Given the description of an element on the screen output the (x, y) to click on. 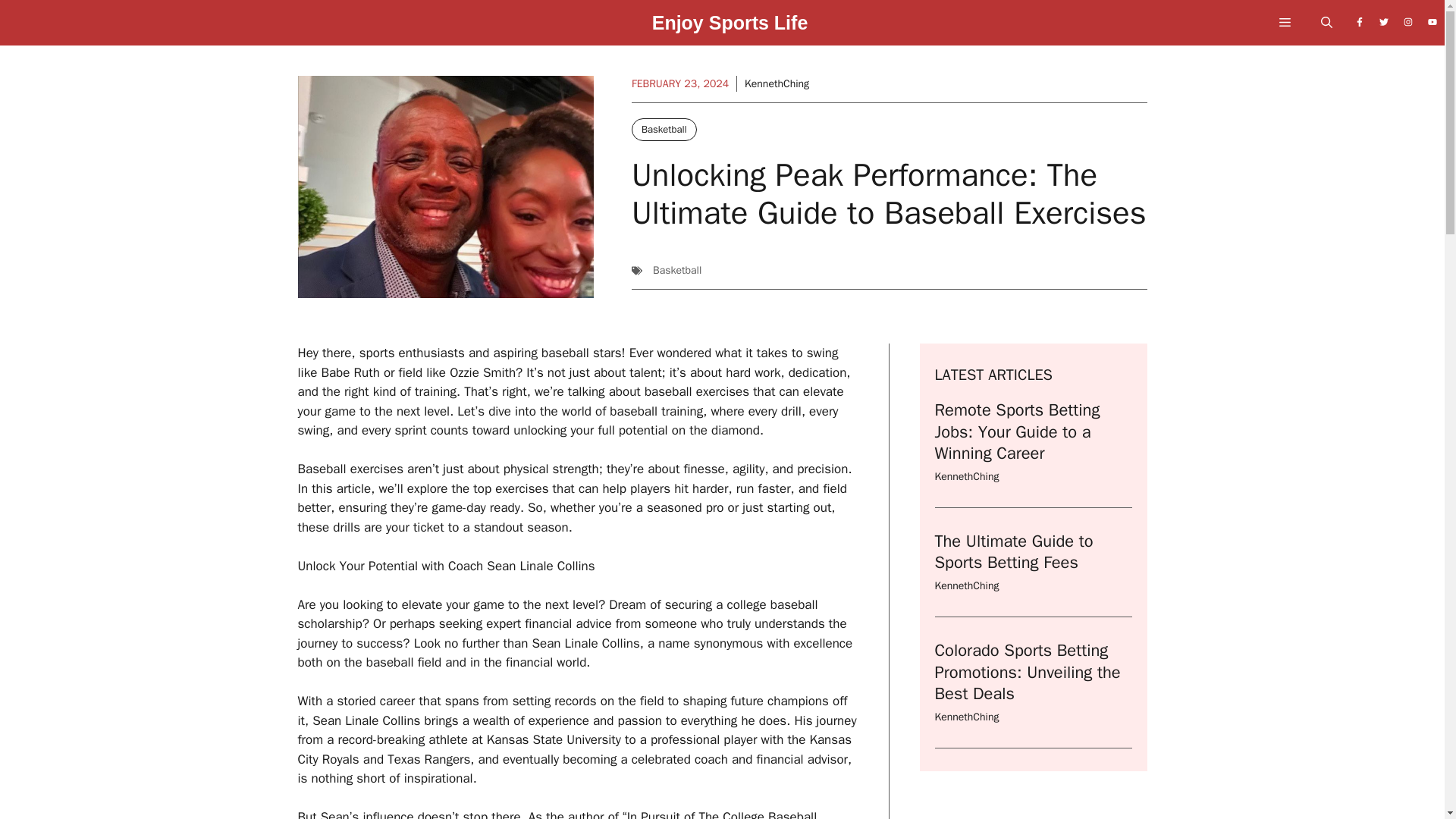
Enjoy Sports Life (730, 26)
Remote Sports Betting Jobs: Your Guide to a Winning Career (1016, 431)
KennethChing (776, 83)
KennethChing (966, 476)
Basketball (664, 128)
Basketball (676, 269)
The Ultimate Guide to Sports Betting Fees (1013, 552)
Colorado Sports Betting Promotions: Unveiling the Best Deals (1026, 671)
KennethChing (966, 716)
KennethChing (966, 585)
